Given the description of an element on the screen output the (x, y) to click on. 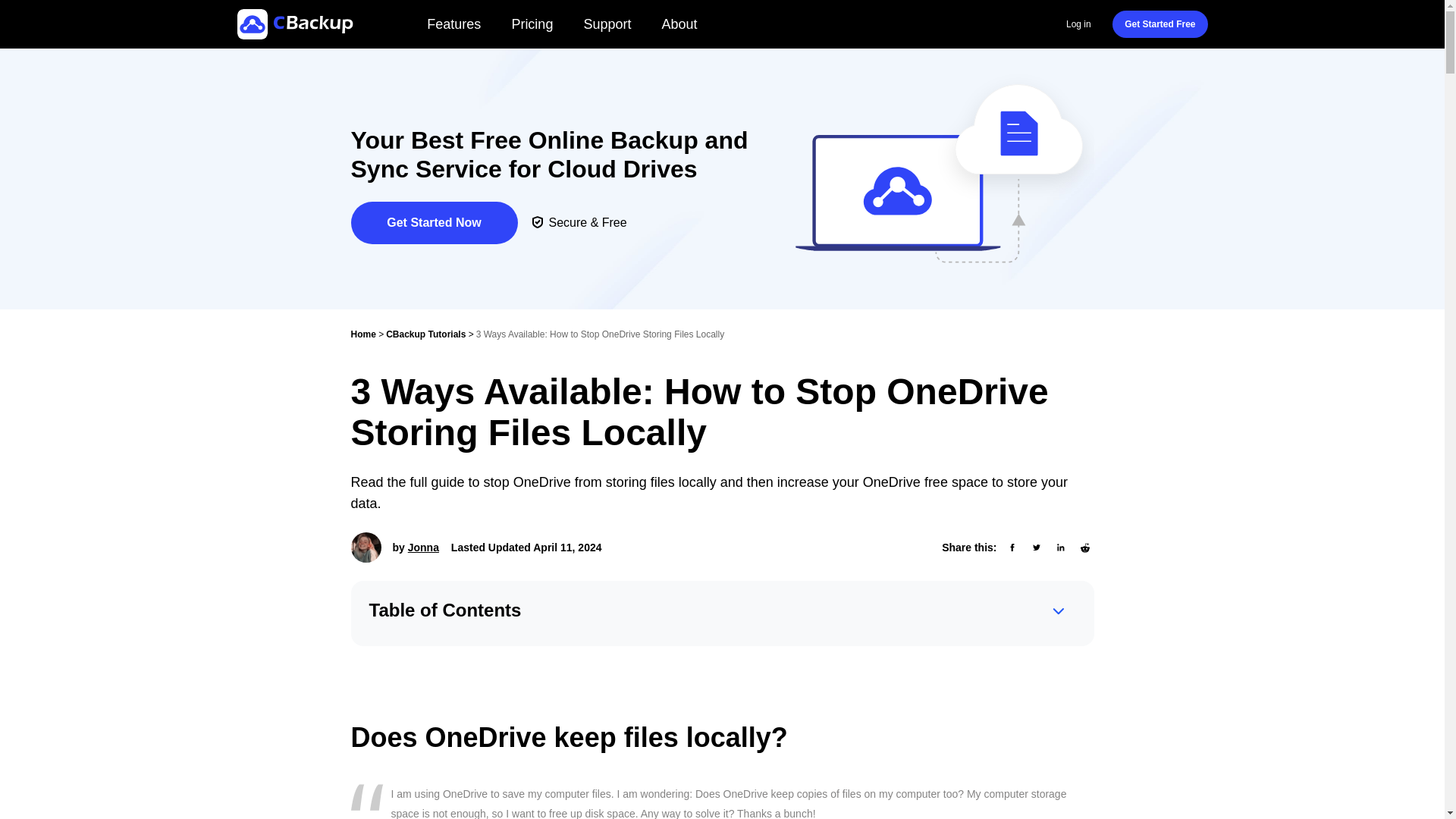
About (679, 23)
Support (606, 23)
Features (453, 23)
CBackup Tutorials (425, 334)
Home (362, 334)
Get Started Free (1159, 23)
Get Started Now (433, 222)
Pricing (532, 23)
Jonna (423, 547)
Log in (1077, 24)
